Given the description of an element on the screen output the (x, y) to click on. 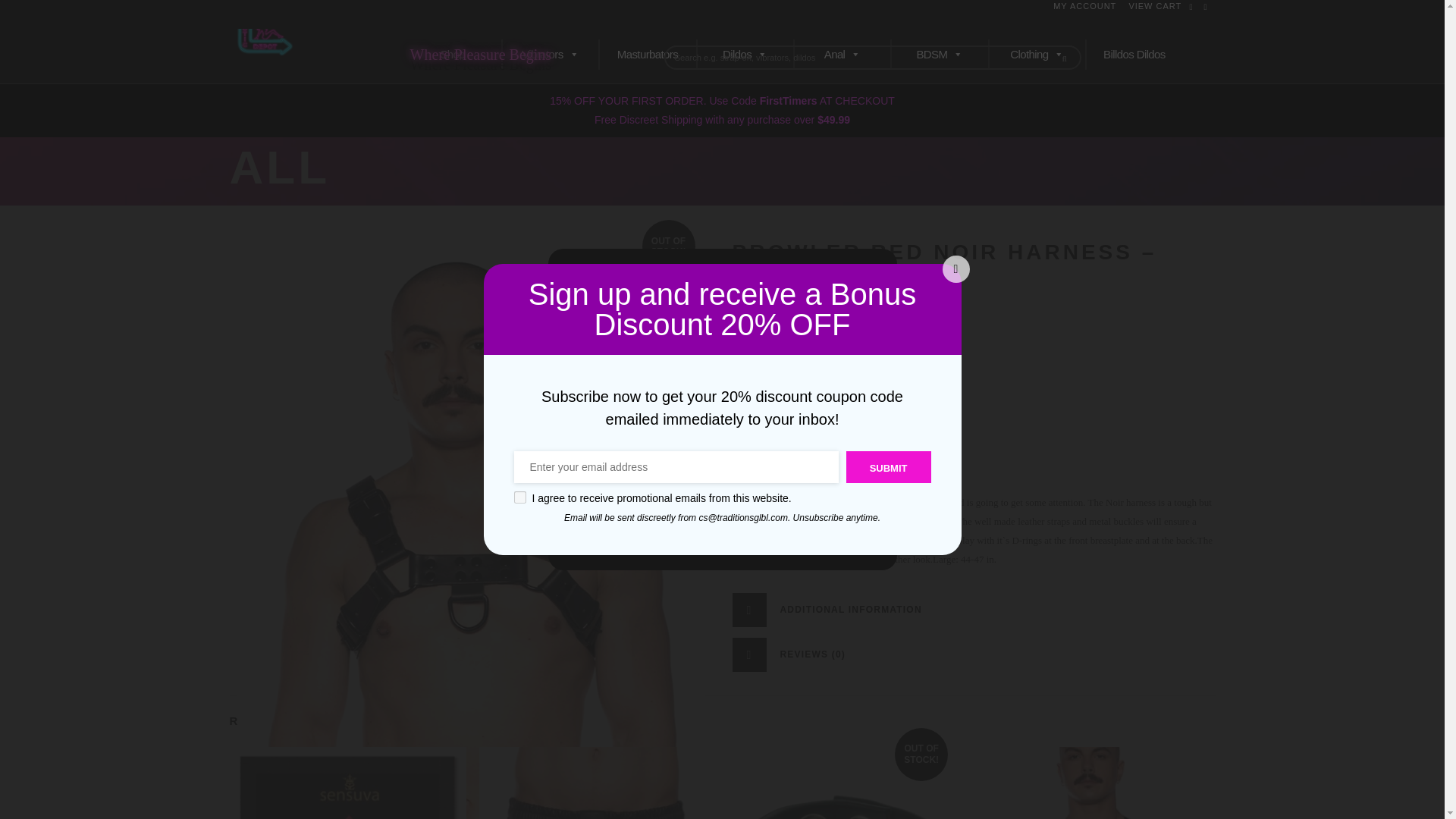
Dildos (745, 54)
VIEW CART (1154, 5)
Anal (841, 54)
Vibrators (550, 54)
Shop (451, 54)
MY ACCOUNT (1084, 5)
on (519, 497)
Masturbators (646, 54)
